Given the description of an element on the screen output the (x, y) to click on. 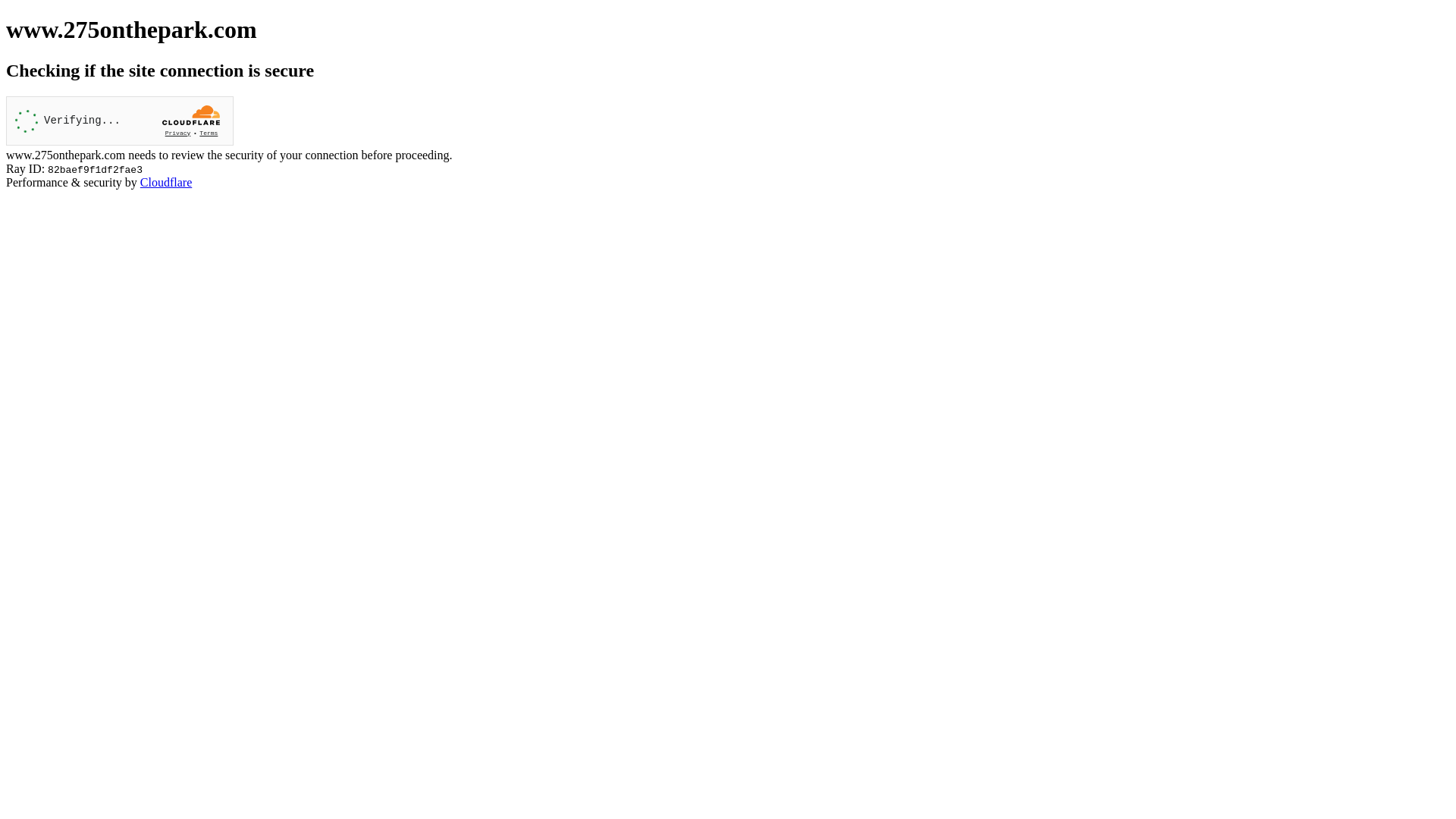
Widget containing a Cloudflare security challenge Element type: hover (119, 120)
Cloudflare Element type: text (165, 181)
